Given the description of an element on the screen output the (x, y) to click on. 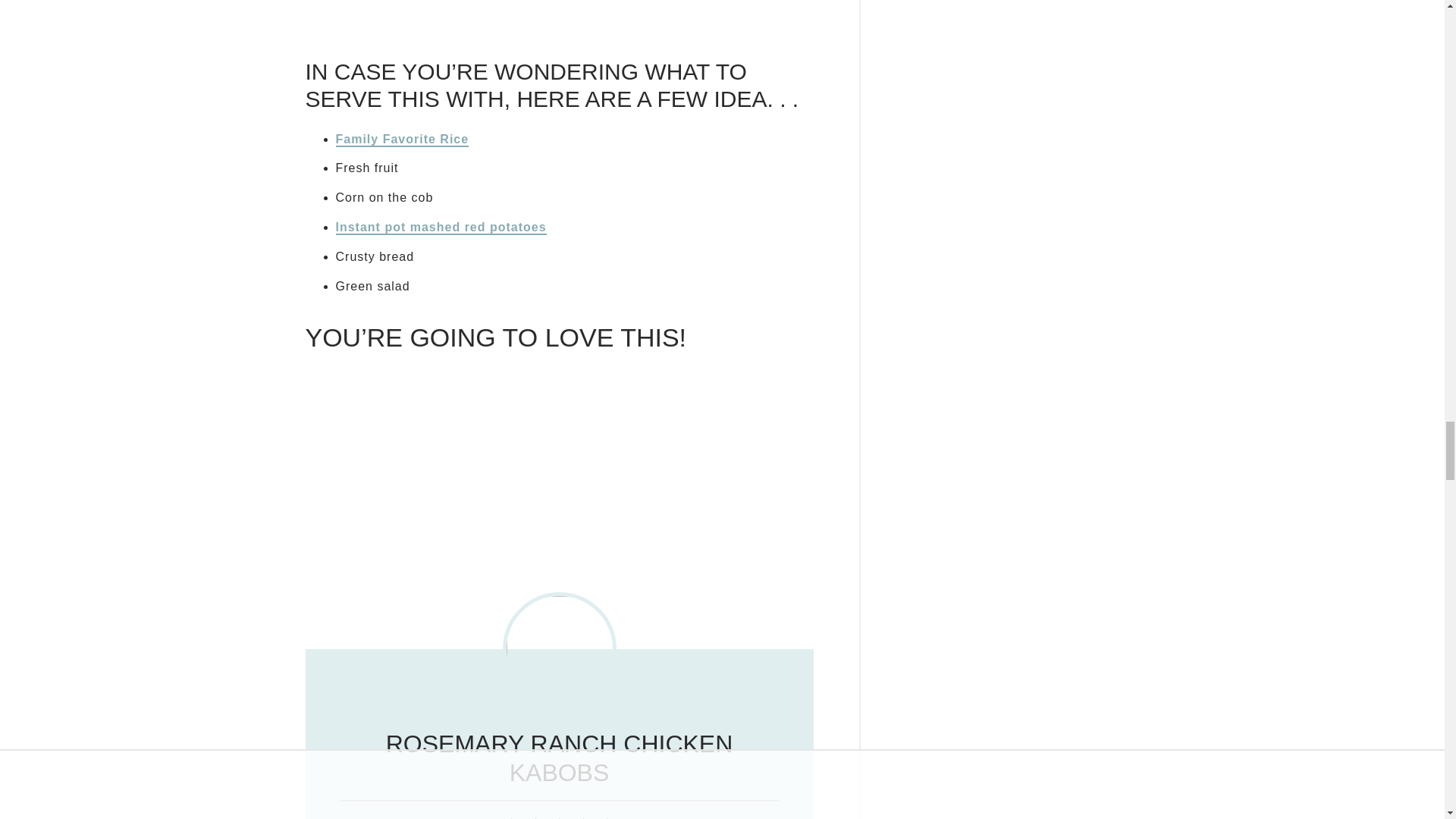
Instant pot mashed red potatoes (440, 227)
Family Favorite Rice (401, 139)
